Given the description of an element on the screen output the (x, y) to click on. 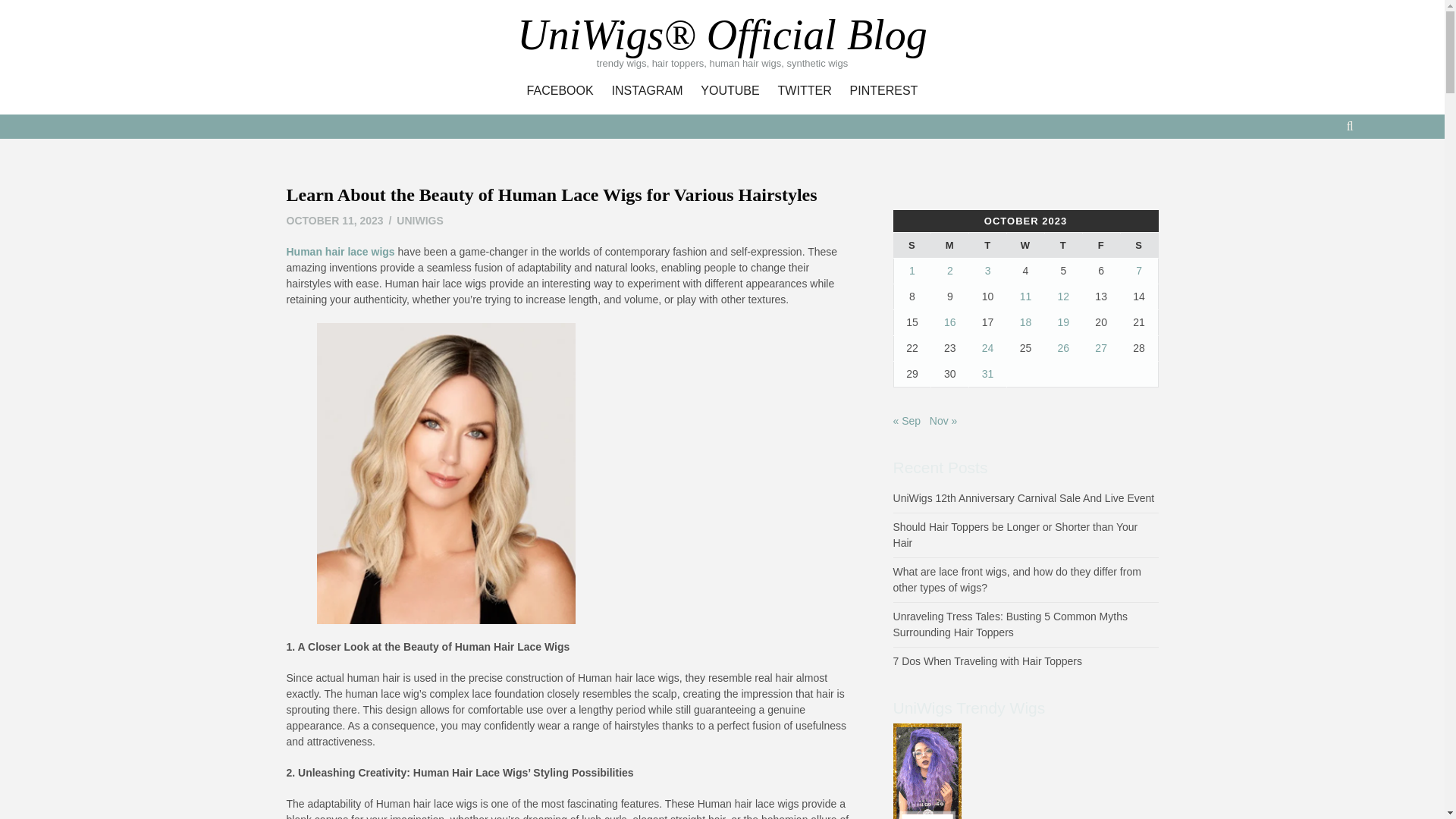
UNIWIGS (419, 220)
INSTAGRAM (647, 91)
FACEBOOK (560, 91)
Wednesday (1026, 245)
11 (1026, 296)
Monday (950, 245)
Sunday (912, 245)
16 (949, 322)
Search (730, 123)
18 (1026, 322)
